Given the description of an element on the screen output the (x, y) to click on. 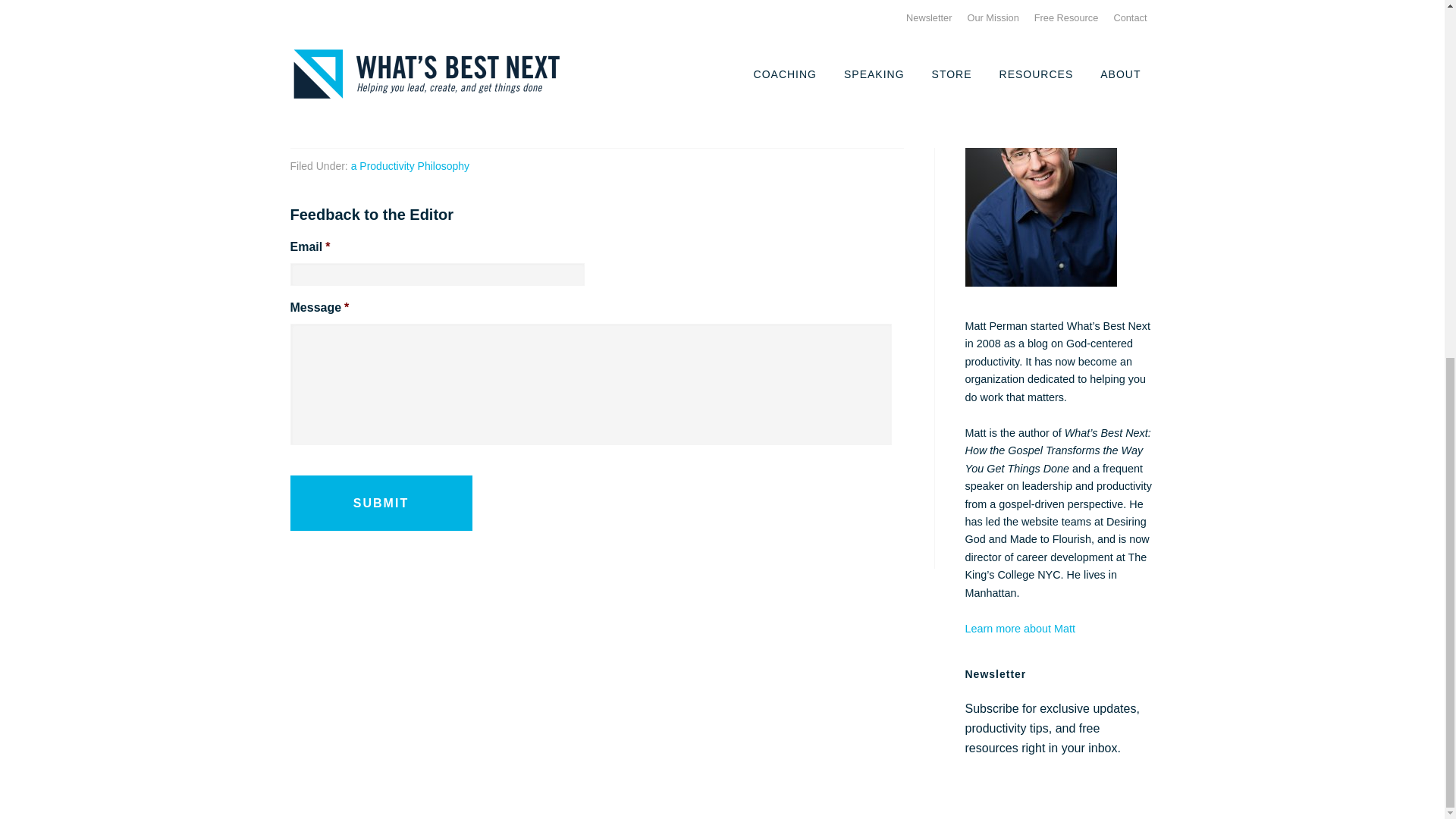
Submit (380, 503)
a Productivity Philosophy (409, 165)
Twitter (440, 108)
Evernote (753, 108)
LinkedIn (648, 108)
Facebook (335, 108)
Submit (380, 503)
